Given the description of an element on the screen output the (x, y) to click on. 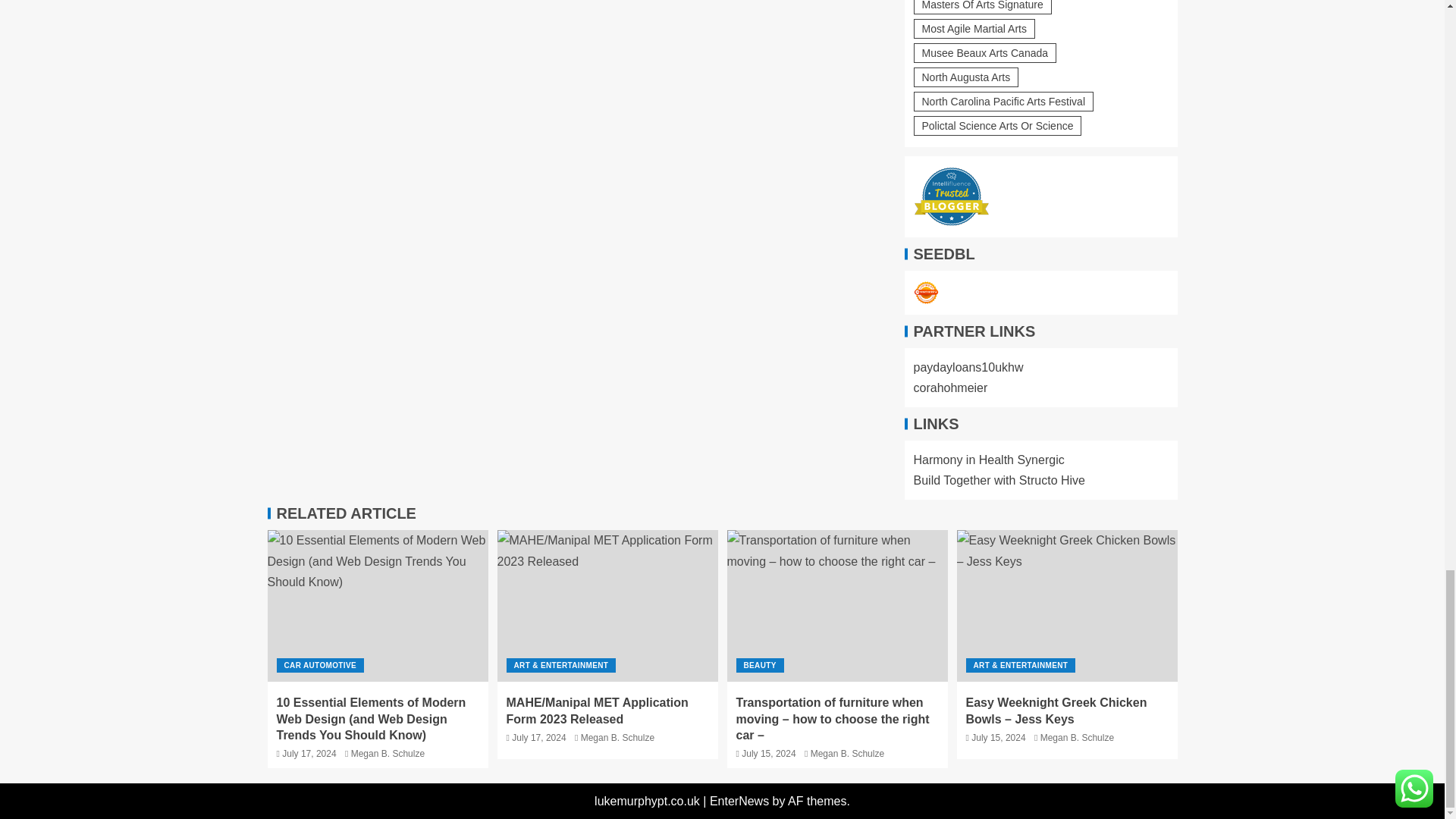
Seedbacklink (925, 292)
